Given the description of an element on the screen output the (x, y) to click on. 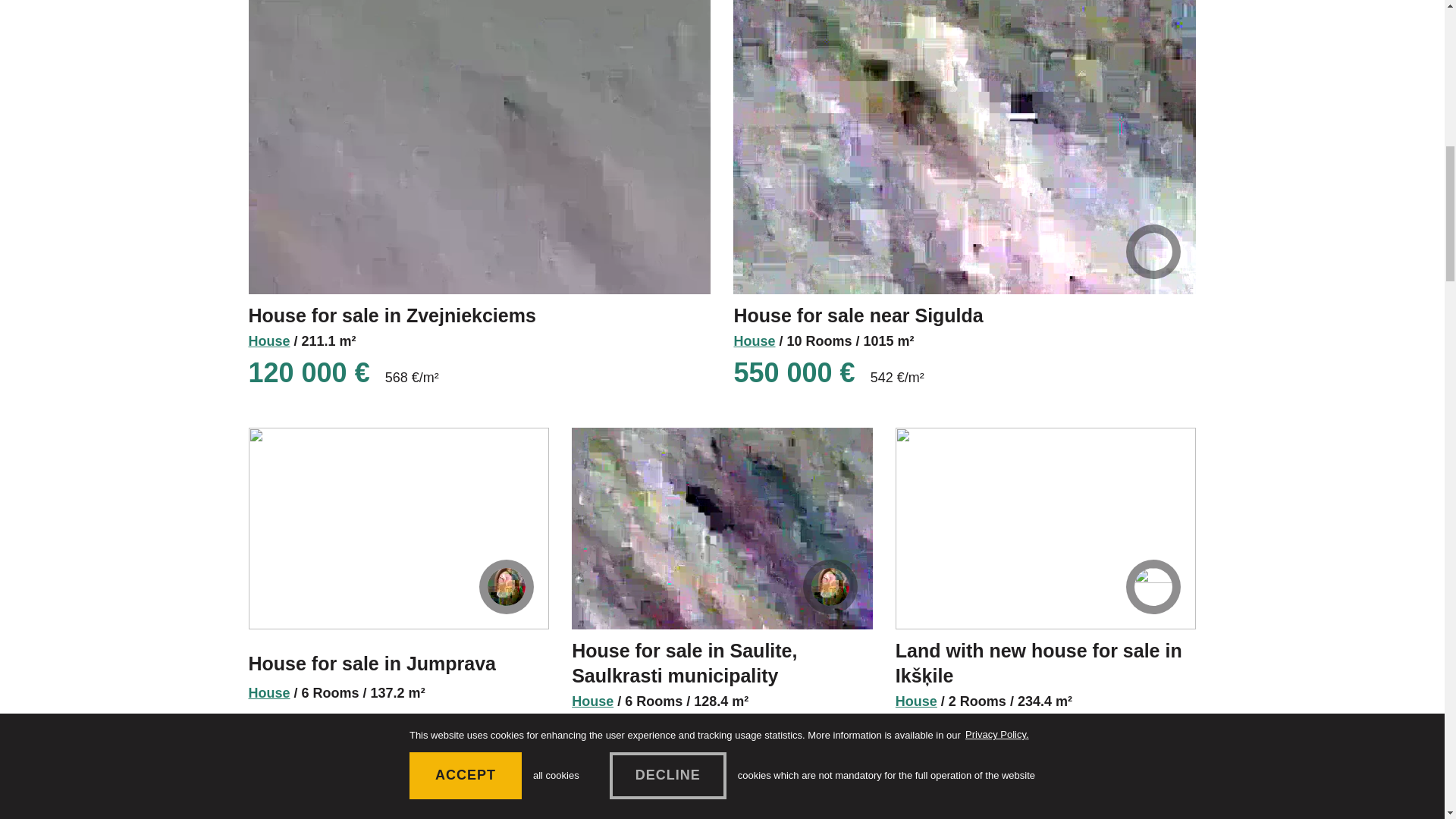
House for sale near Sigulda (857, 315)
House (268, 342)
House for sale in Zvejniekciems (391, 315)
House (753, 342)
